Given the description of an element on the screen output the (x, y) to click on. 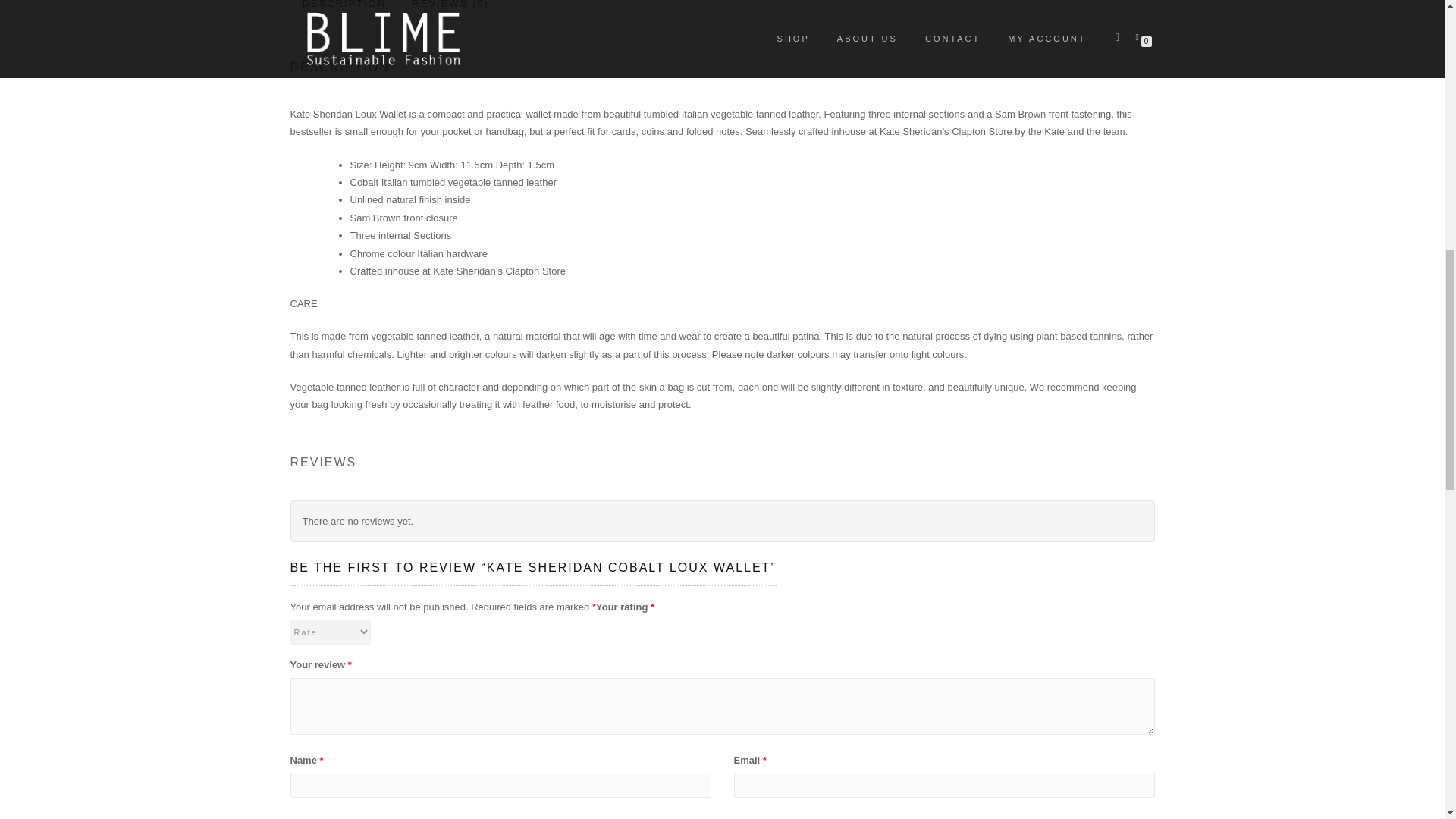
DESCRIPTION (343, 9)
